Given the description of an element on the screen output the (x, y) to click on. 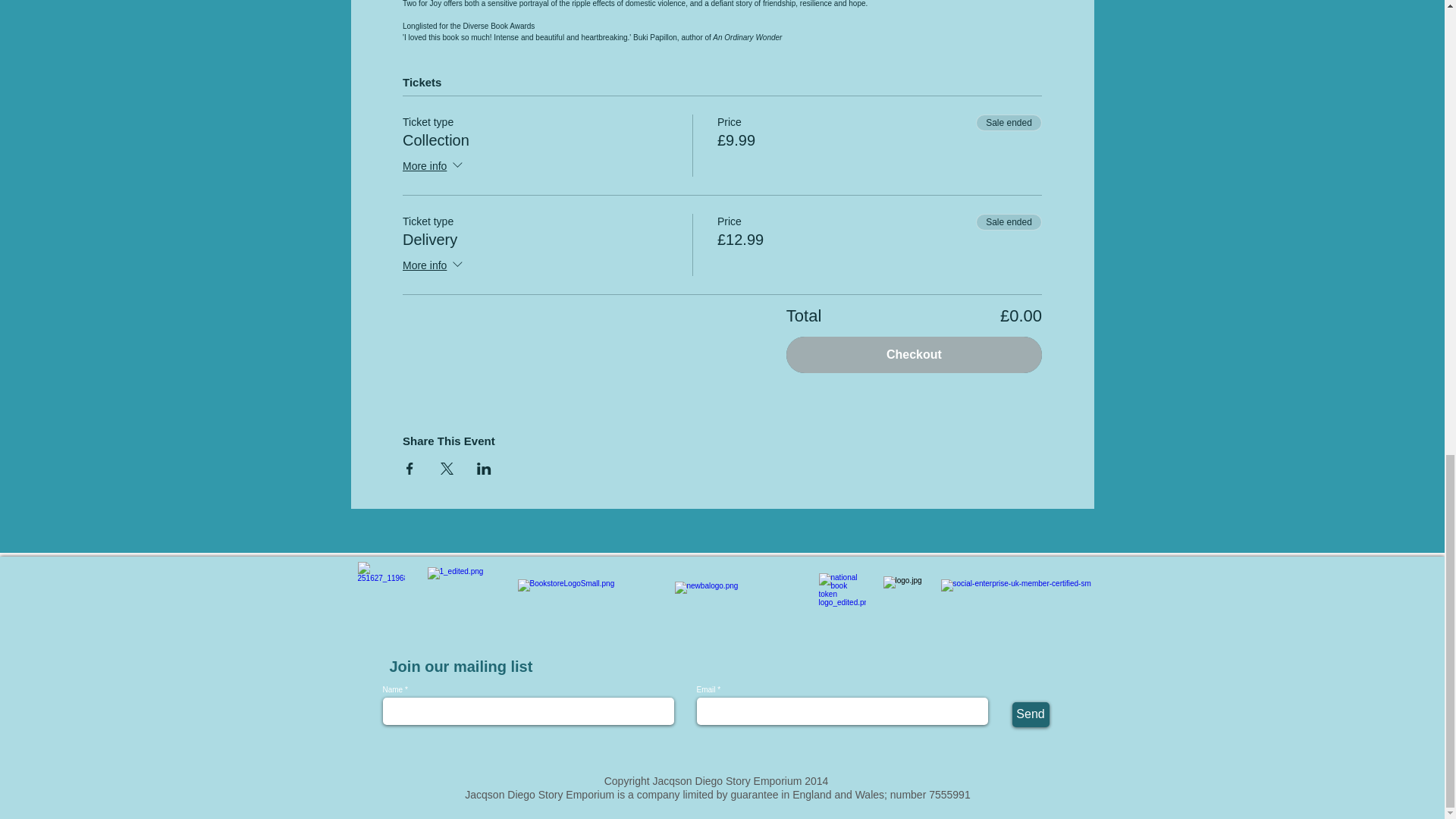
More info (434, 266)
Checkout (914, 354)
Send (1029, 714)
More info (434, 166)
